Given the description of an element on the screen output the (x, y) to click on. 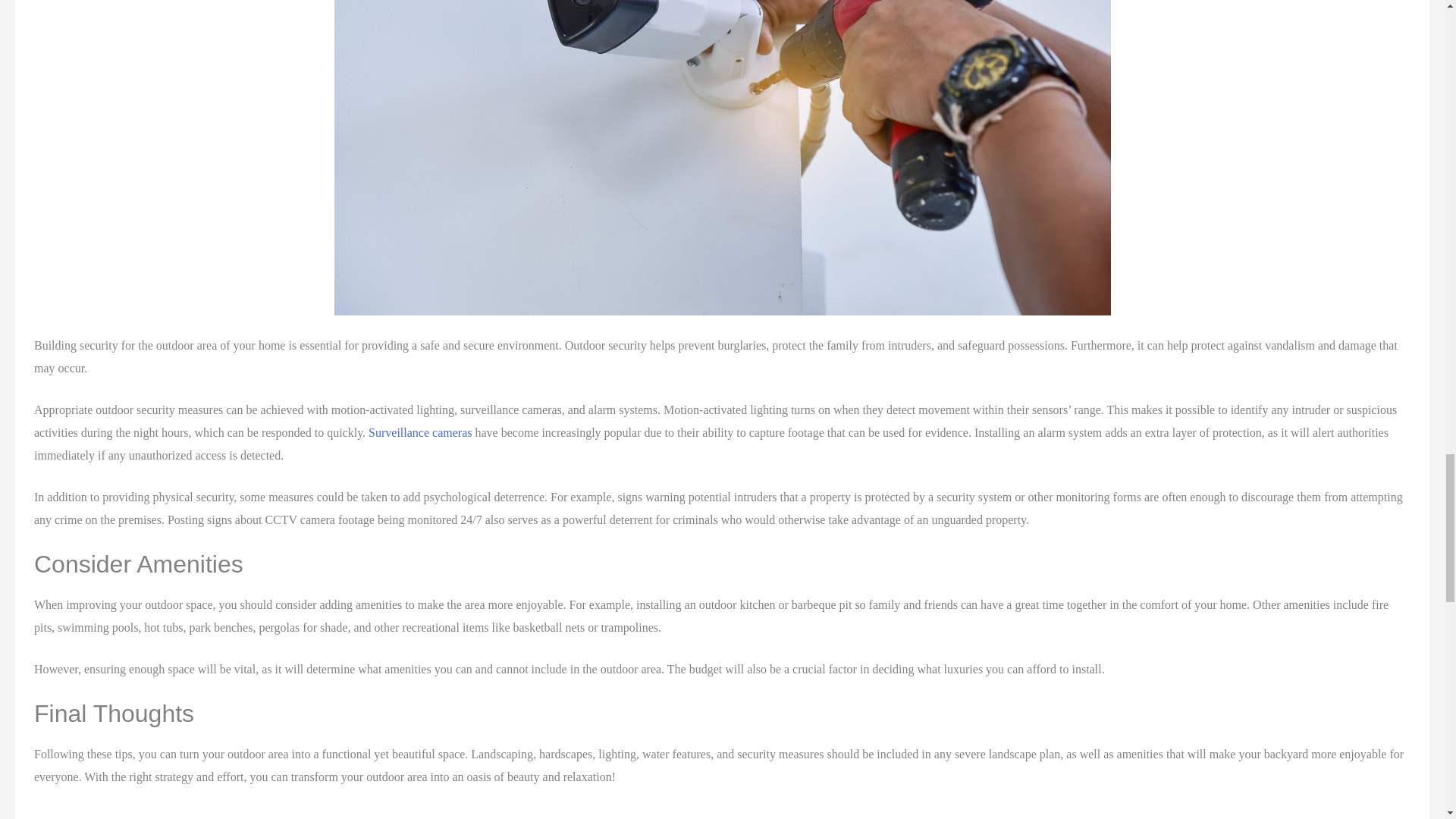
Surveillance cameras (419, 431)
